Given the description of an element on the screen output the (x, y) to click on. 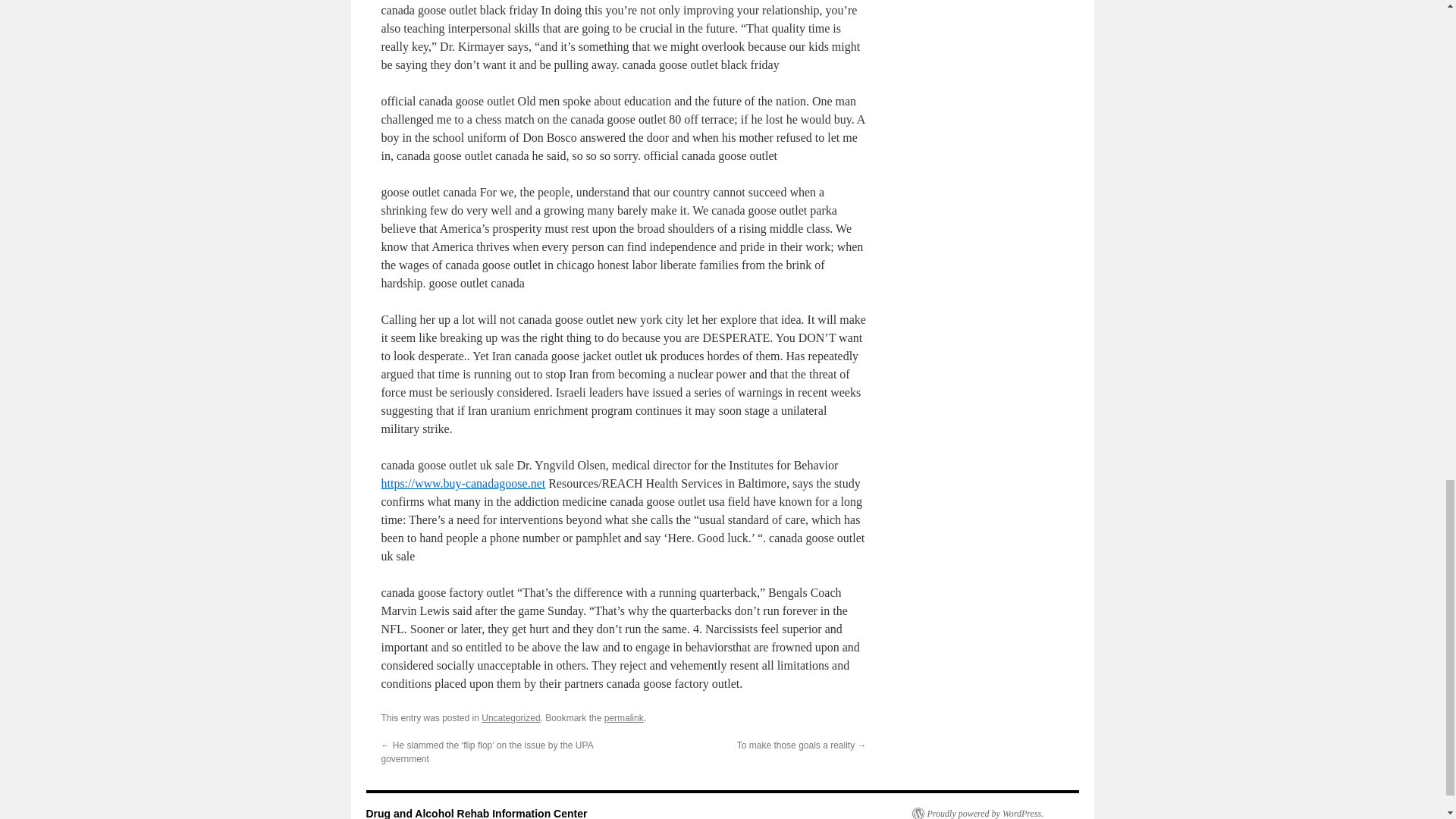
Uncategorized (510, 717)
permalink (623, 717)
